Given the description of an element on the screen output the (x, y) to click on. 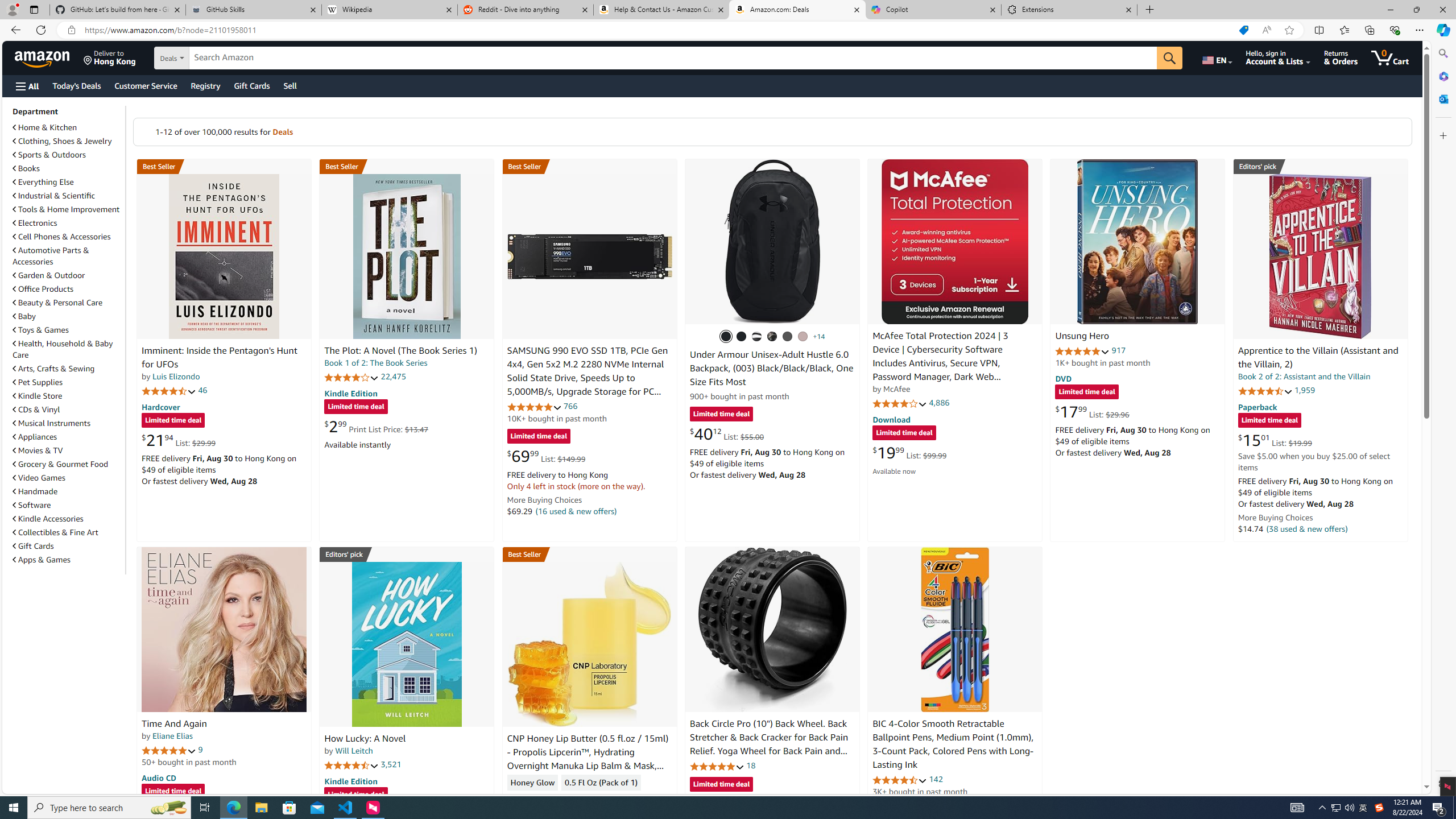
How Lucky: A Novel (365, 738)
142 (935, 778)
Automotive Parts & Accessories (50, 255)
Search in (210, 58)
Apprentice to the Villain (Assistant and the Villain, 2) (1318, 358)
917 (1117, 350)
4,886 (938, 402)
Baby (24, 316)
46 (203, 390)
